Given the description of an element on the screen output the (x, y) to click on. 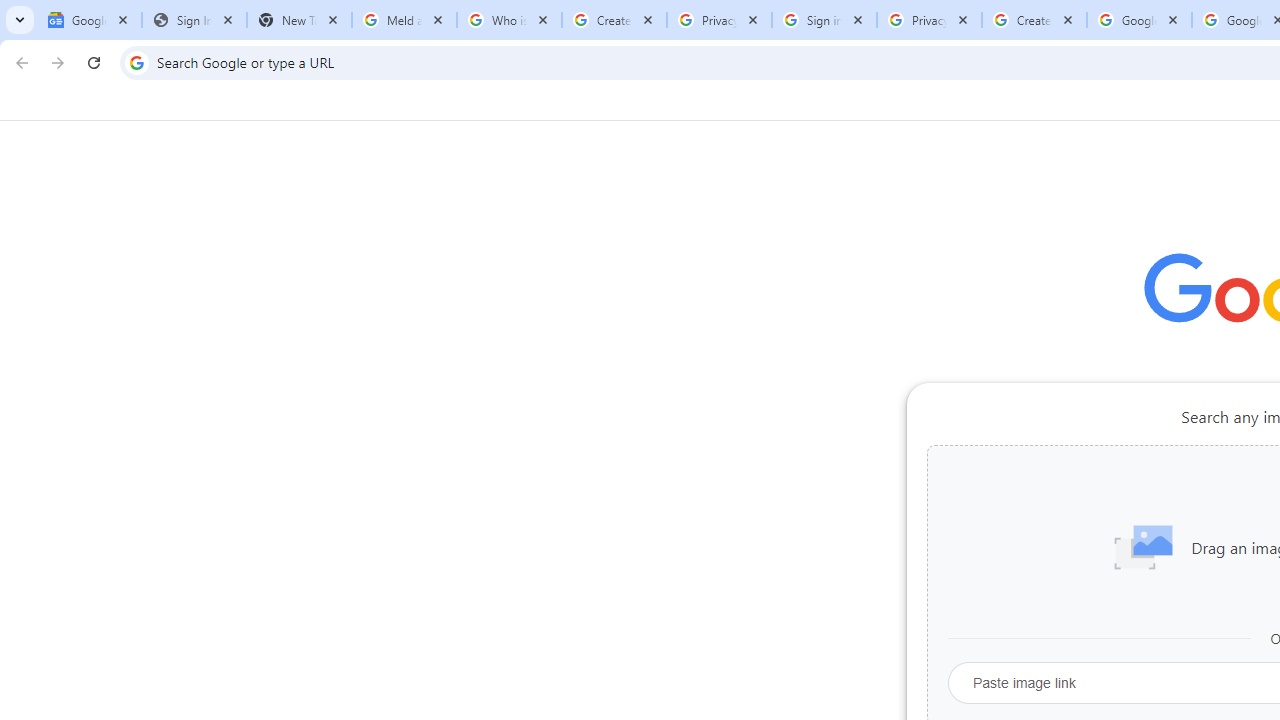
Who is my administrator? - Google Account Help (509, 20)
Create your Google Account (613, 20)
